Given the description of an element on the screen output the (x, y) to click on. 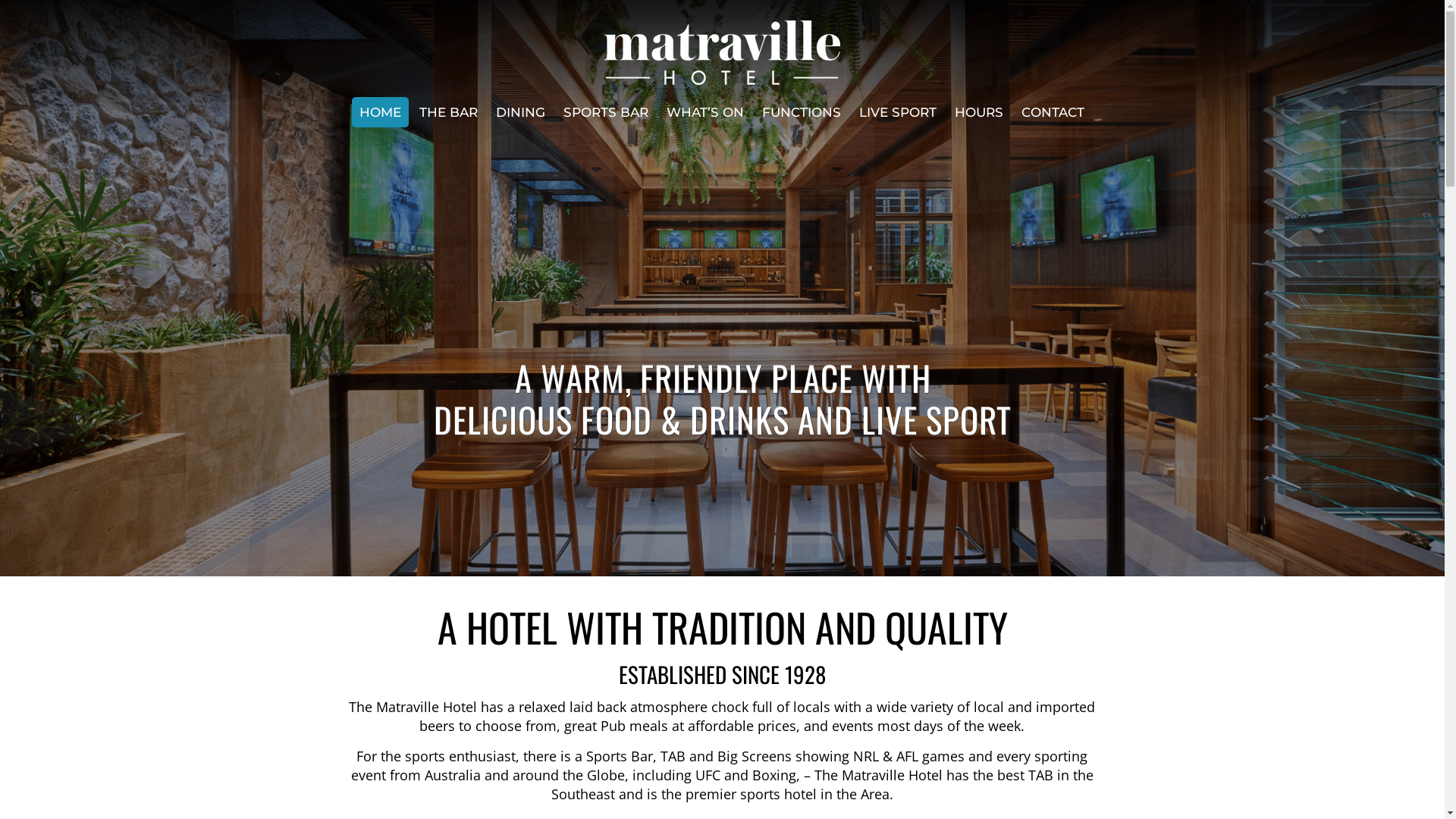
CONTACT Element type: text (1052, 112)
LIVE SPORT Element type: text (897, 112)
Matraville Hotel Element type: hover (721, 44)
THE BAR Element type: text (448, 112)
FUNCTIONS Element type: text (801, 112)
DINING Element type: text (520, 112)
SPORTS BAR Element type: text (605, 112)
HOME Element type: text (379, 112)
HOURS Element type: text (978, 112)
